Given the description of an element on the screen output the (x, y) to click on. 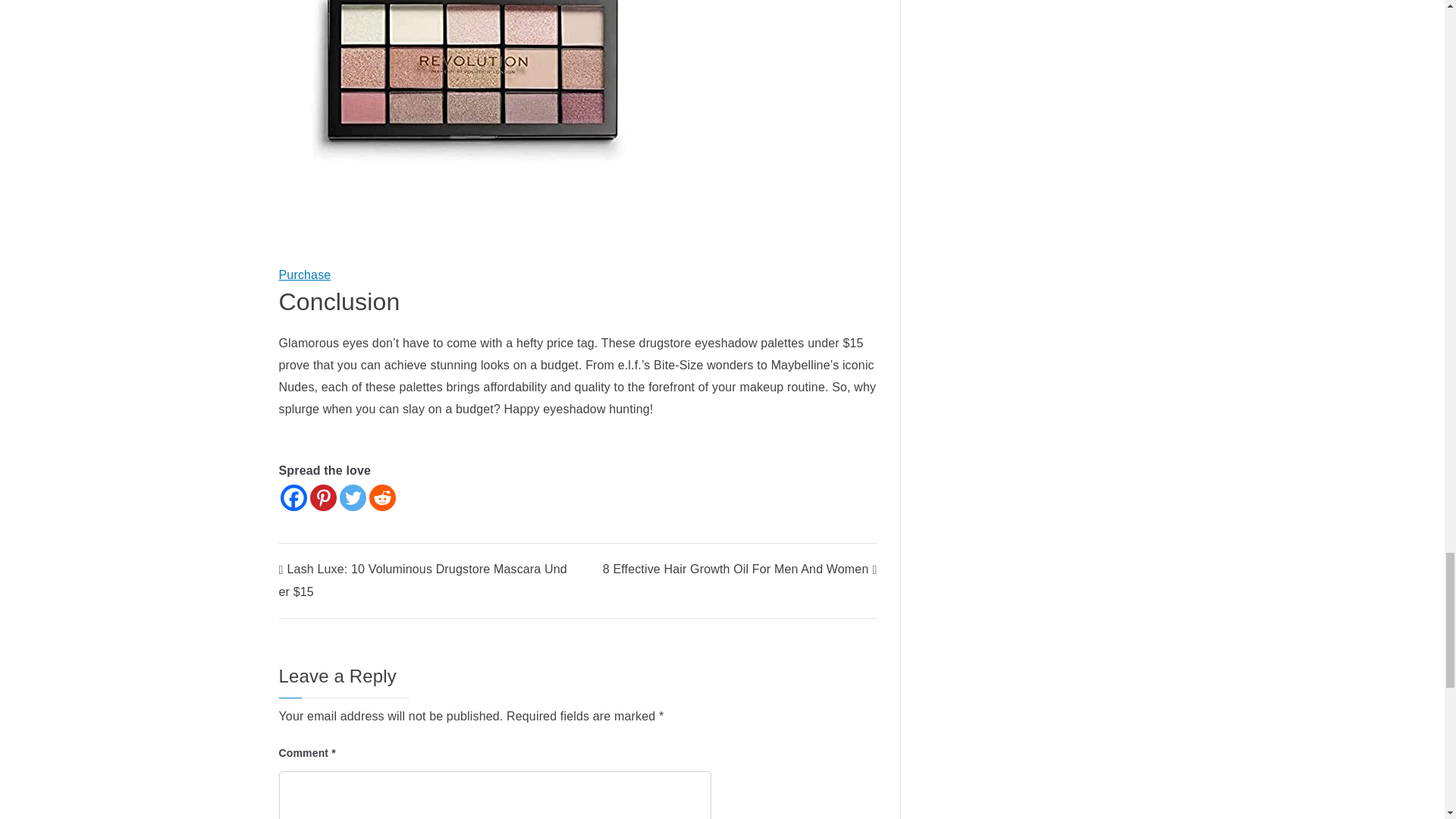
Pinterest (322, 497)
Facebook (294, 497)
Purchase (305, 274)
Reddit (381, 497)
Twitter (352, 497)
